Given the description of an element on the screen output the (x, y) to click on. 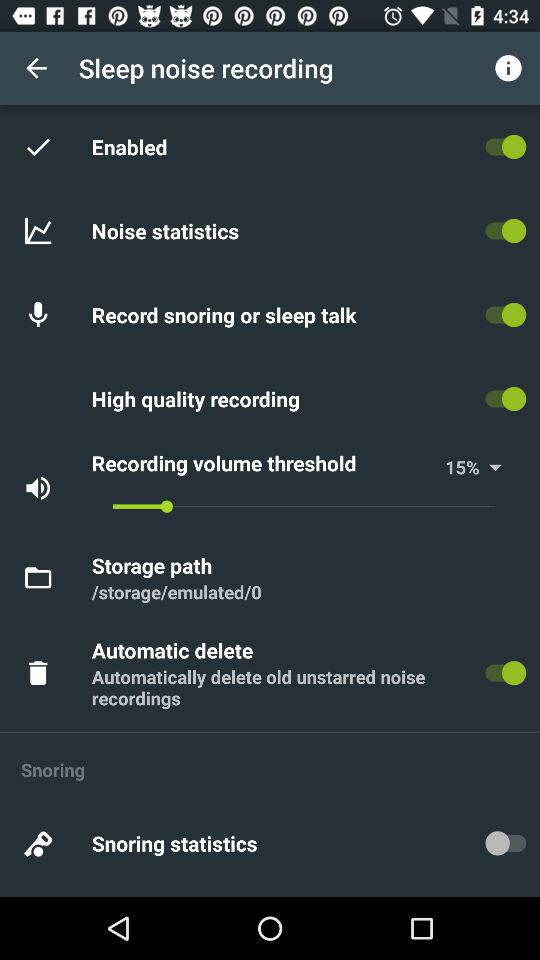
choose the icon below /storage/emulated/0 (175, 650)
